Given the description of an element on the screen output the (x, y) to click on. 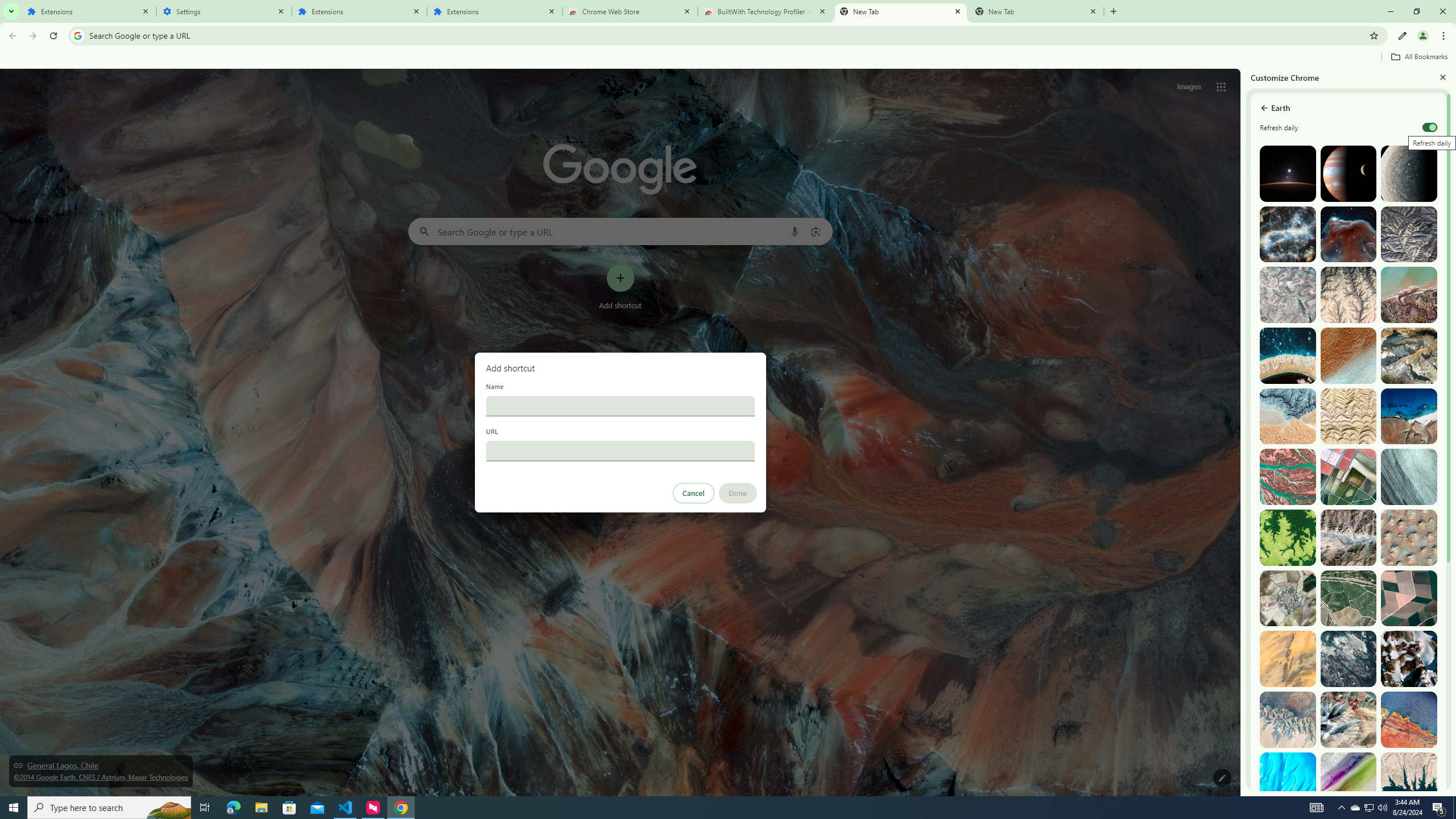
Iceland (1408, 476)
Zermatt, Wallis, Switzerland (1408, 355)
URL (620, 450)
Antarctica (1408, 658)
Qesm Al Wahat Ad Dakhlah, Egypt (1287, 719)
Extensions (494, 11)
Hainan, China (1408, 780)
Utrera, Spain (1408, 598)
Trarza, Mauritania (1348, 355)
